Given the description of an element on the screen output the (x, y) to click on. 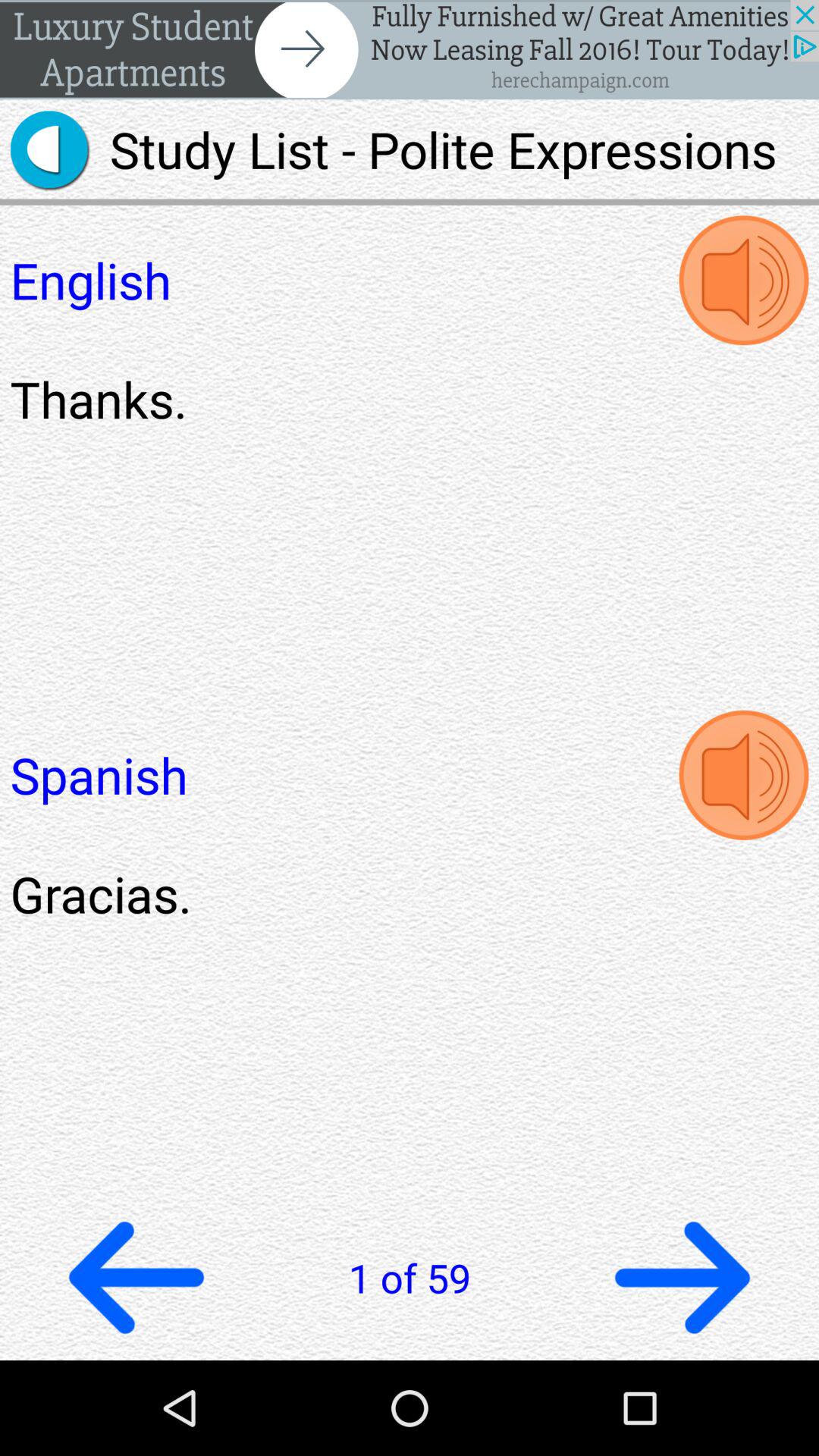
hear spanish (743, 775)
